Given the description of an element on the screen output the (x, y) to click on. 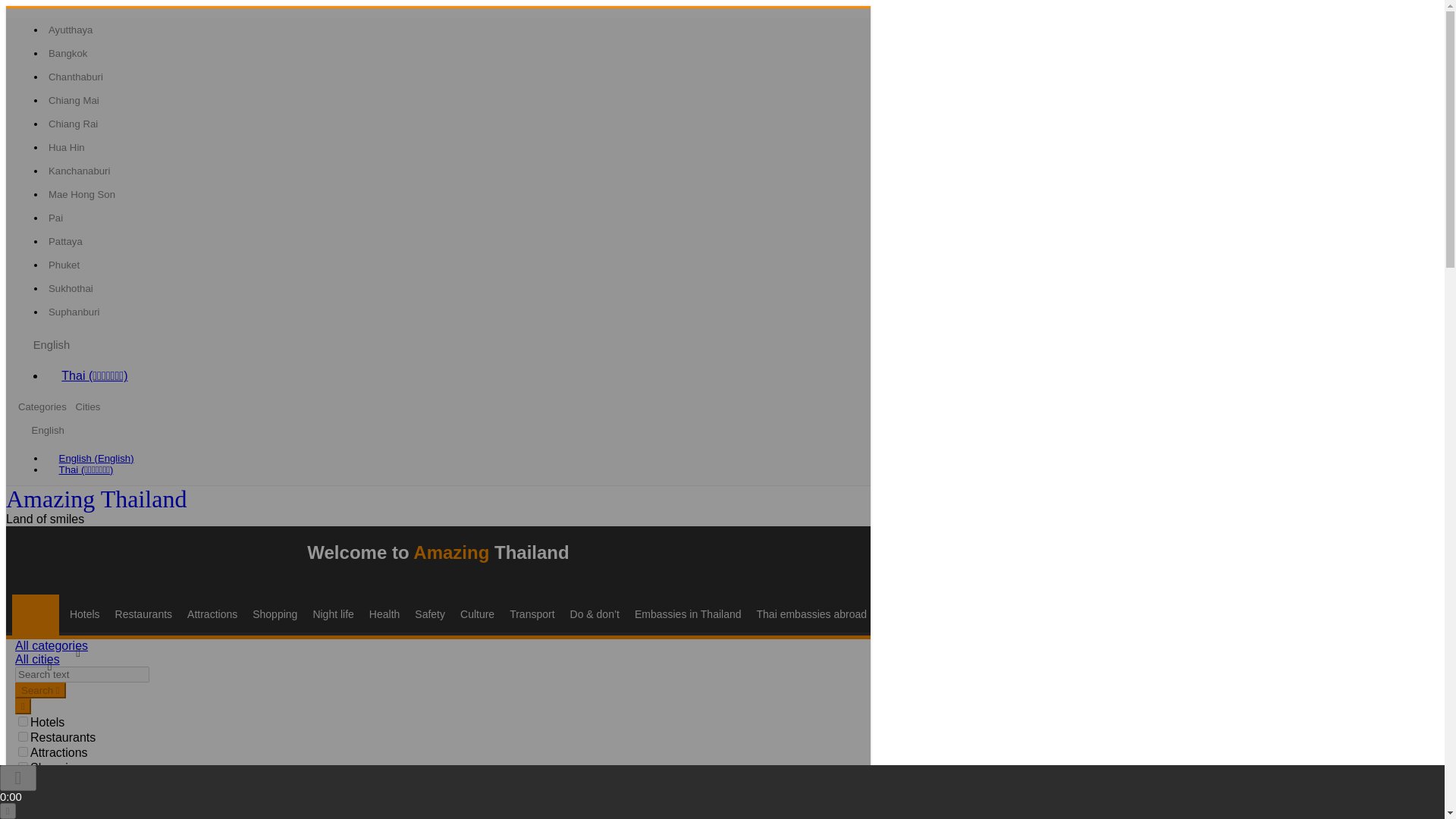
Mae Hong Son (81, 194)
Attractions (212, 613)
Embassies in Thailand (687, 613)
All cities (36, 658)
Chanthaburi (75, 76)
Pai (55, 218)
Safety (429, 613)
Chiang Mai (73, 100)
Night life (332, 613)
Pattaya (65, 241)
Ayutthaya (70, 29)
Amazing Thailand (95, 498)
Chiang Rai (72, 123)
Cities (87, 406)
Home (39, 613)
